Given the description of an element on the screen output the (x, y) to click on. 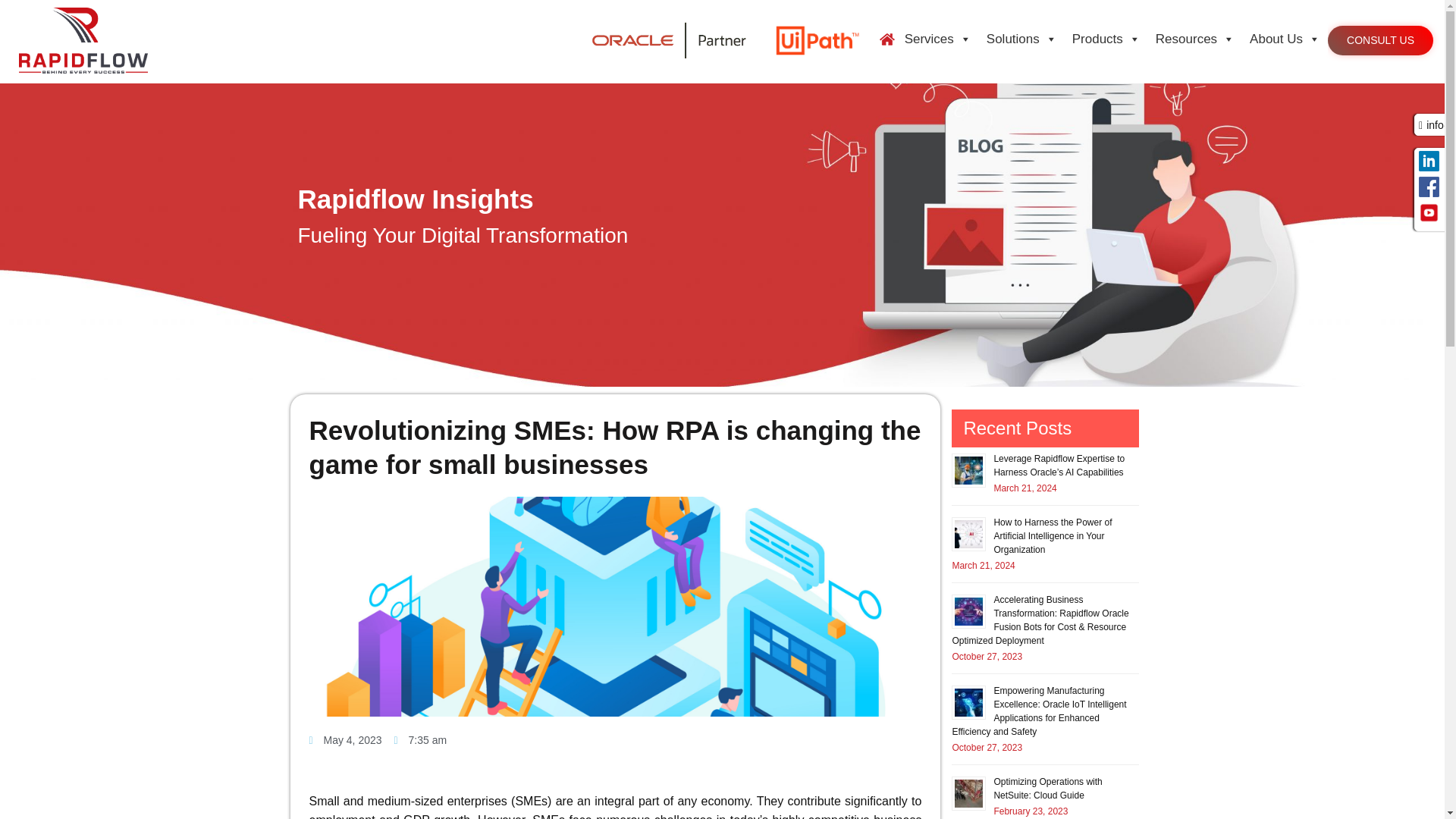
Products (1106, 39)
May 4, 2023 (344, 741)
CONSULT US (1379, 40)
Services (937, 39)
Solutions (1021, 39)
About Us (1284, 39)
Resources (1194, 39)
